Given the description of an element on the screen output the (x, y) to click on. 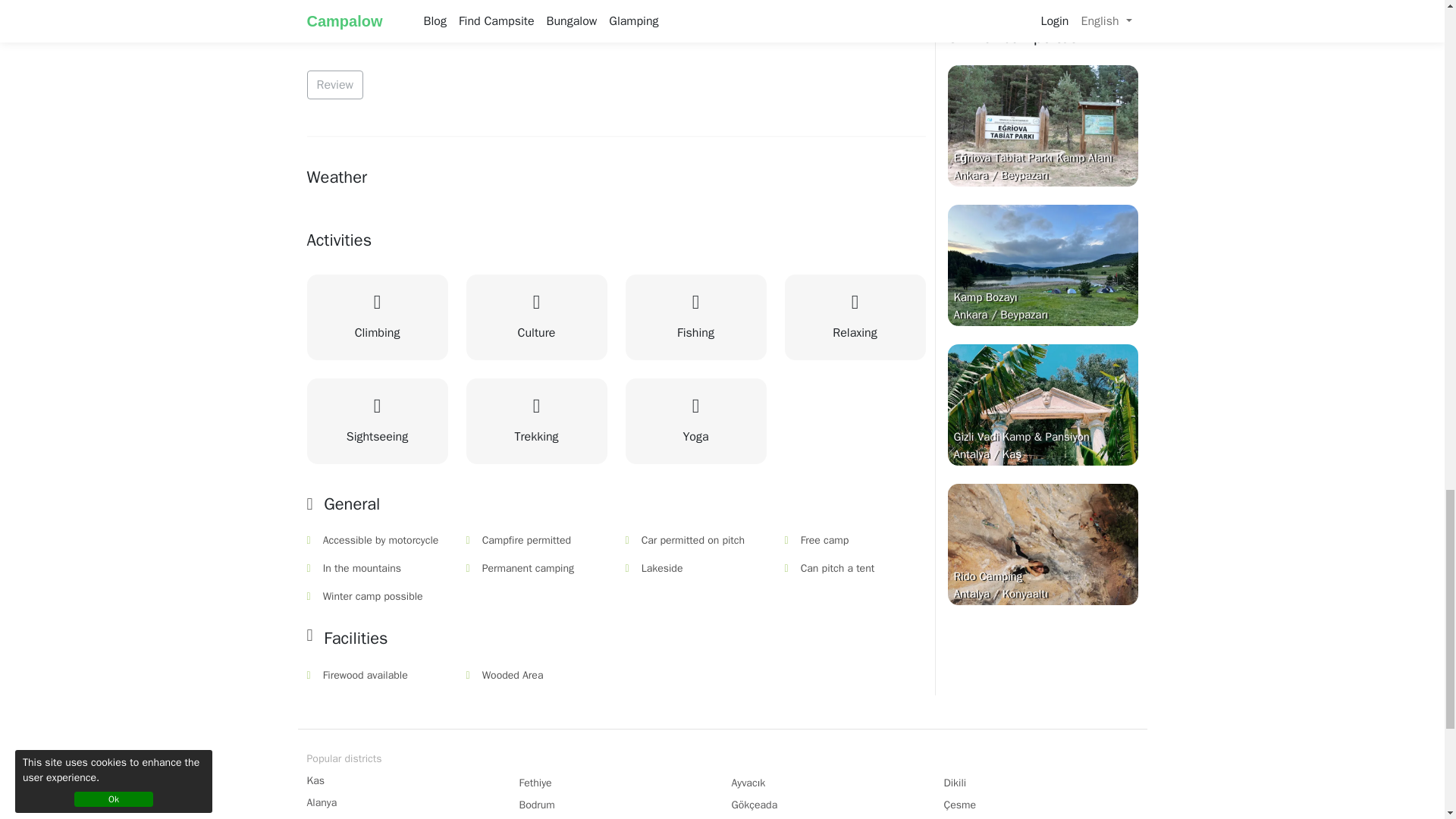
Review (333, 84)
